Given the description of an element on the screen output the (x, y) to click on. 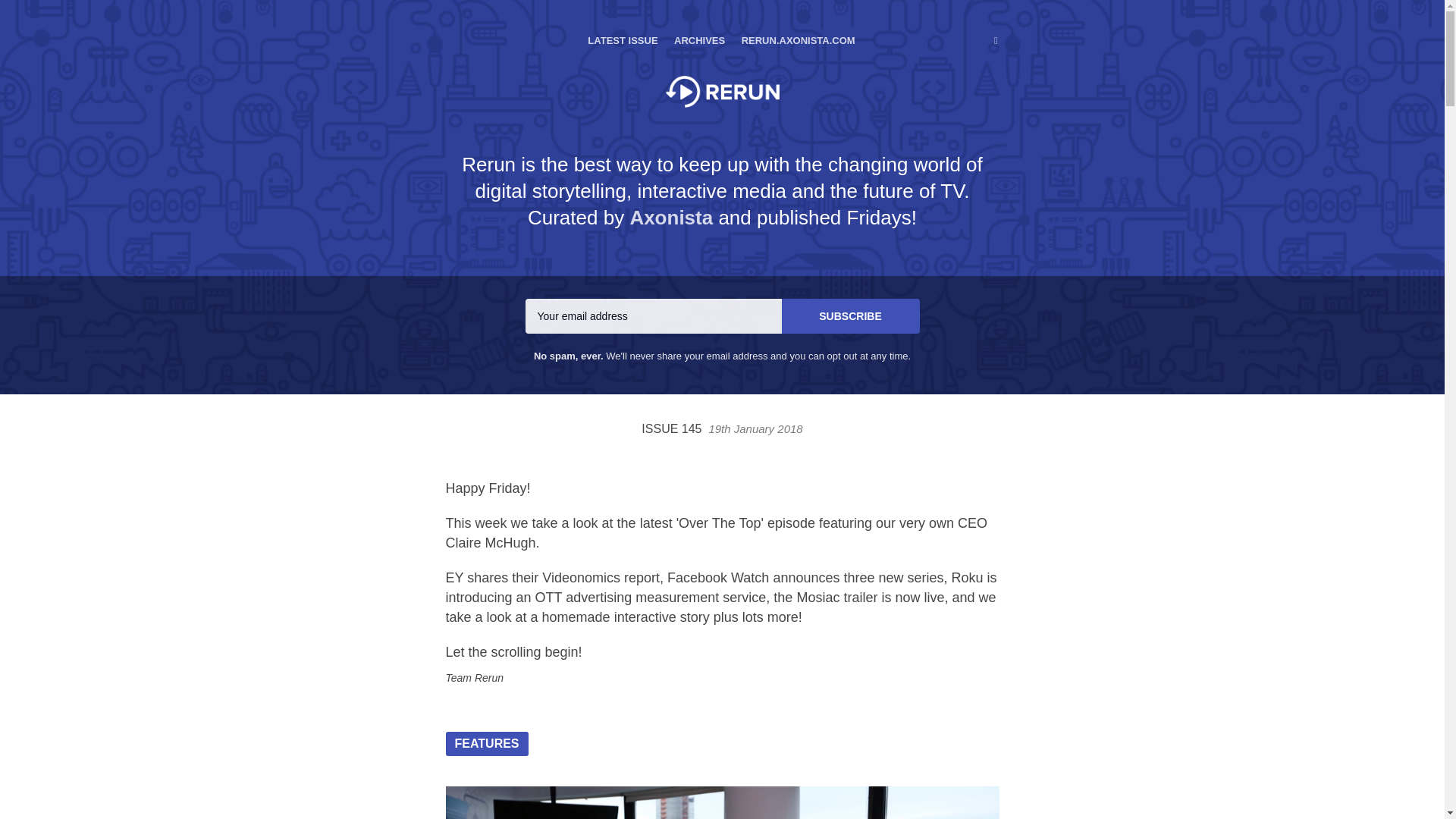
Axonista (670, 217)
ARCHIVES (699, 27)
SUBSCRIBE (849, 315)
LATEST ISSUE (623, 27)
RERUN.AXONISTA.COM (798, 27)
ISSUE 145  19th January 2018 (722, 428)
